Given the description of an element on the screen output the (x, y) to click on. 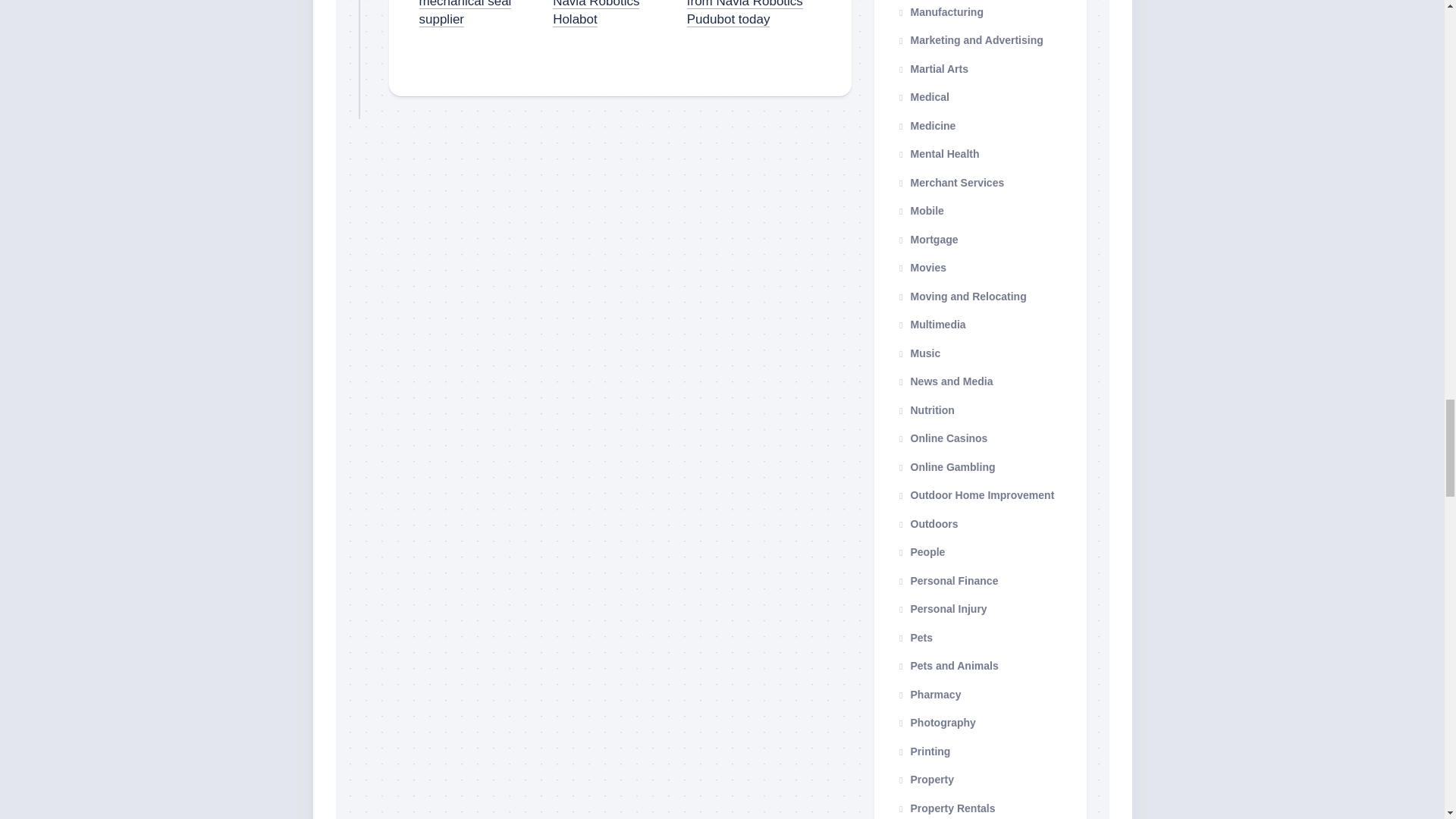
High quality cartridge mechanical seal supplier (465, 12)
